Given the description of an element on the screen output the (x, y) to click on. 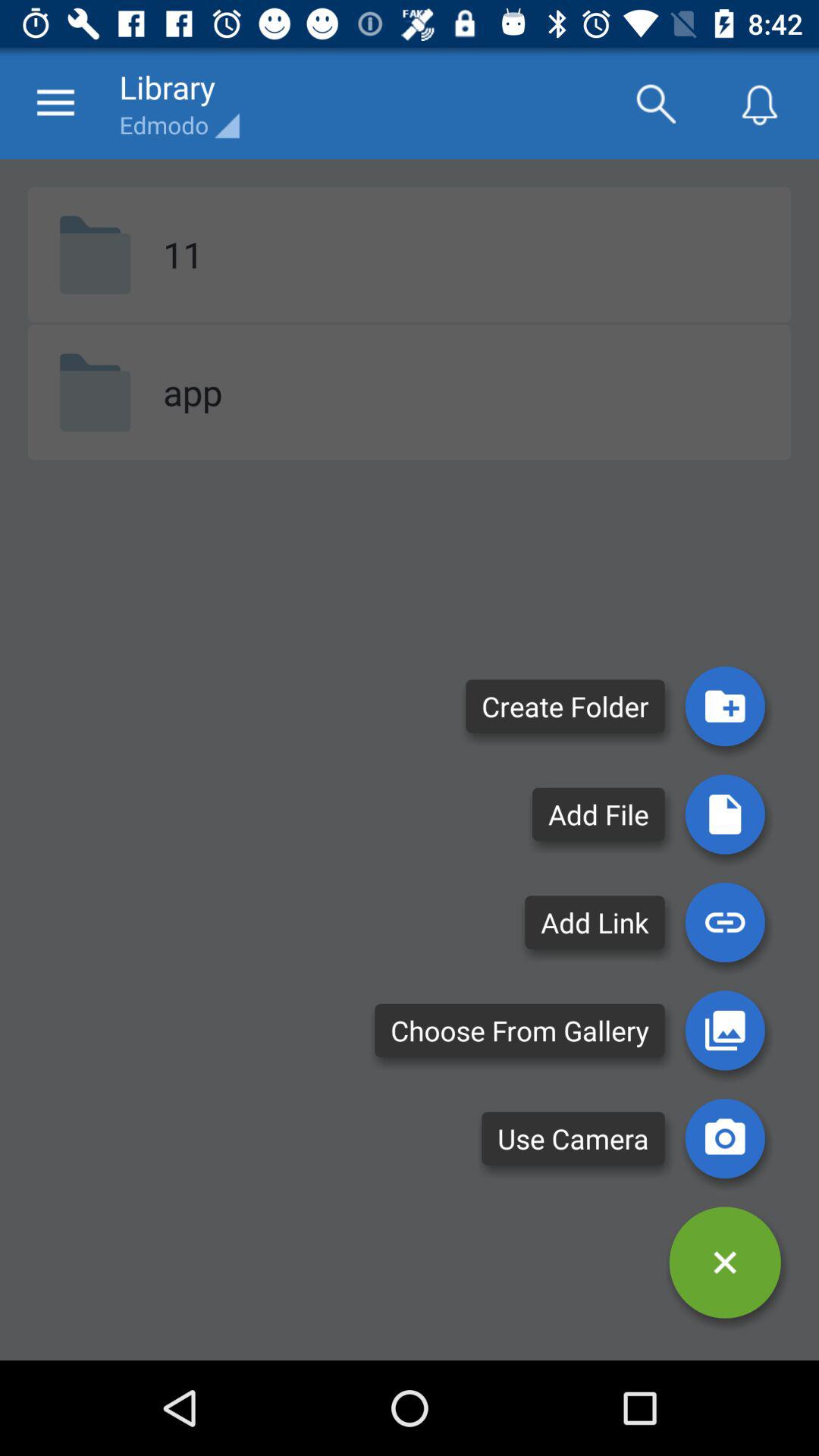
add a photo from gallery (725, 1030)
